Given the description of an element on the screen output the (x, y) to click on. 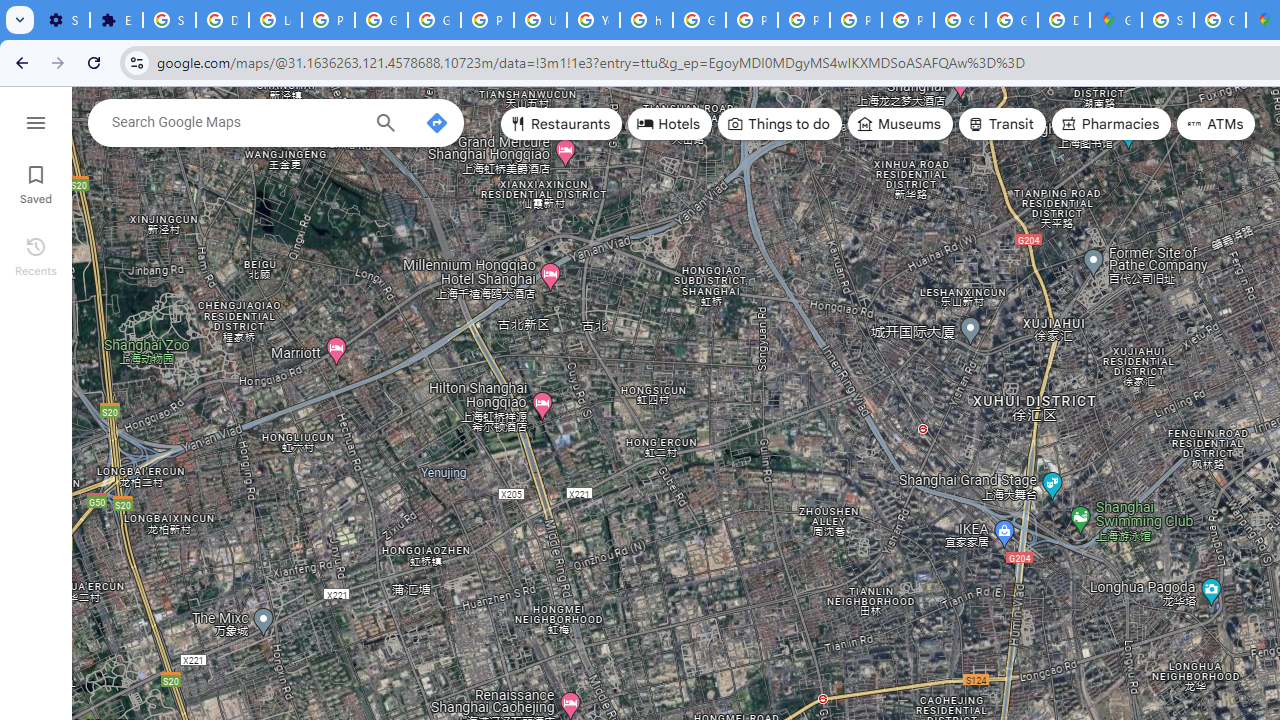
Search Google Maps (235, 121)
Museums (900, 124)
Privacy Help Center - Policies Help (751, 20)
Sign in - Google Accounts (1167, 20)
https://scholar.google.com/ (646, 20)
Directions (436, 122)
Settings - On startup (63, 20)
